Given the description of an element on the screen output the (x, y) to click on. 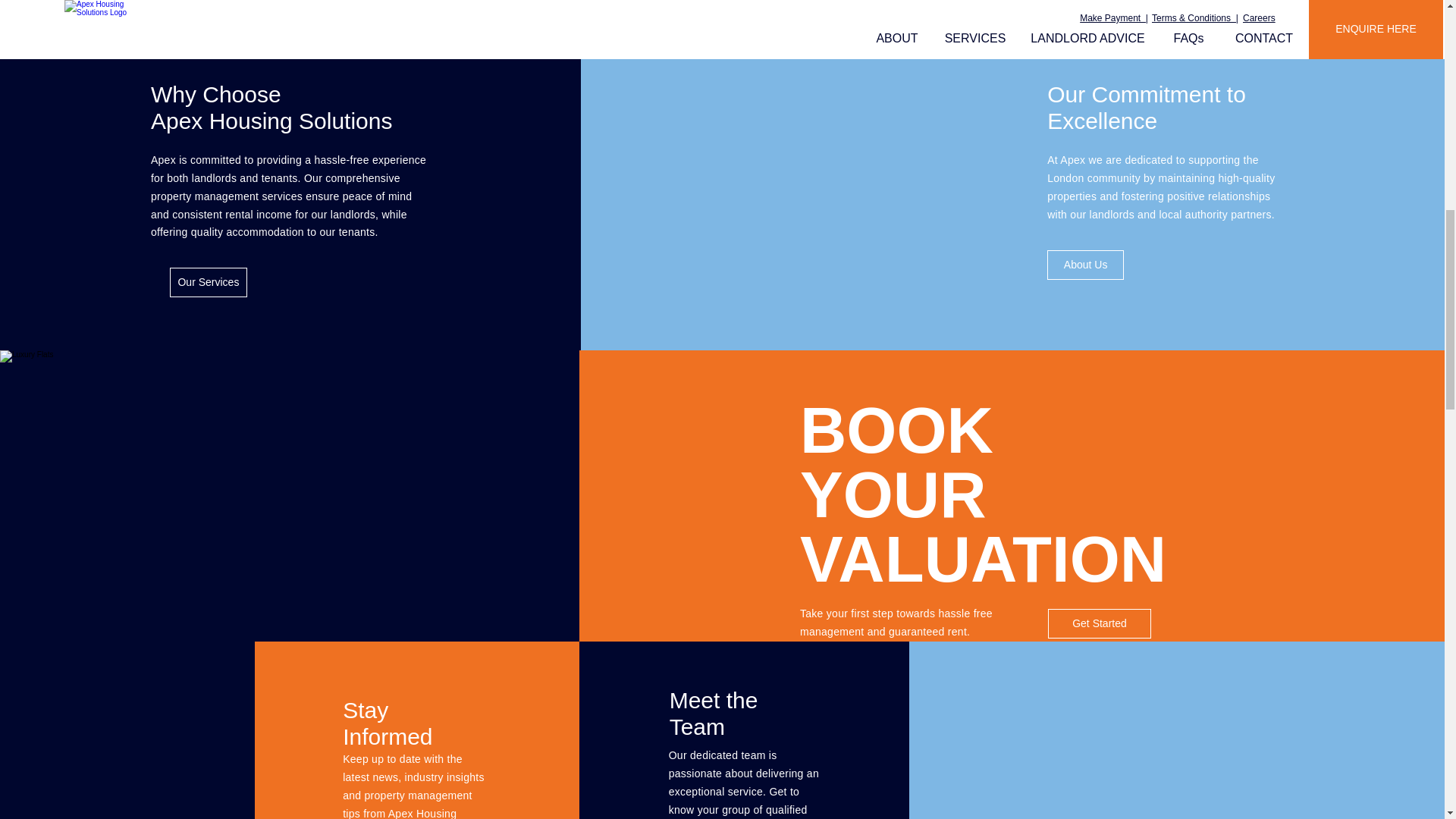
Get Started (1099, 623)
About Us (1085, 265)
Our Services (208, 282)
